Given the description of an element on the screen output the (x, y) to click on. 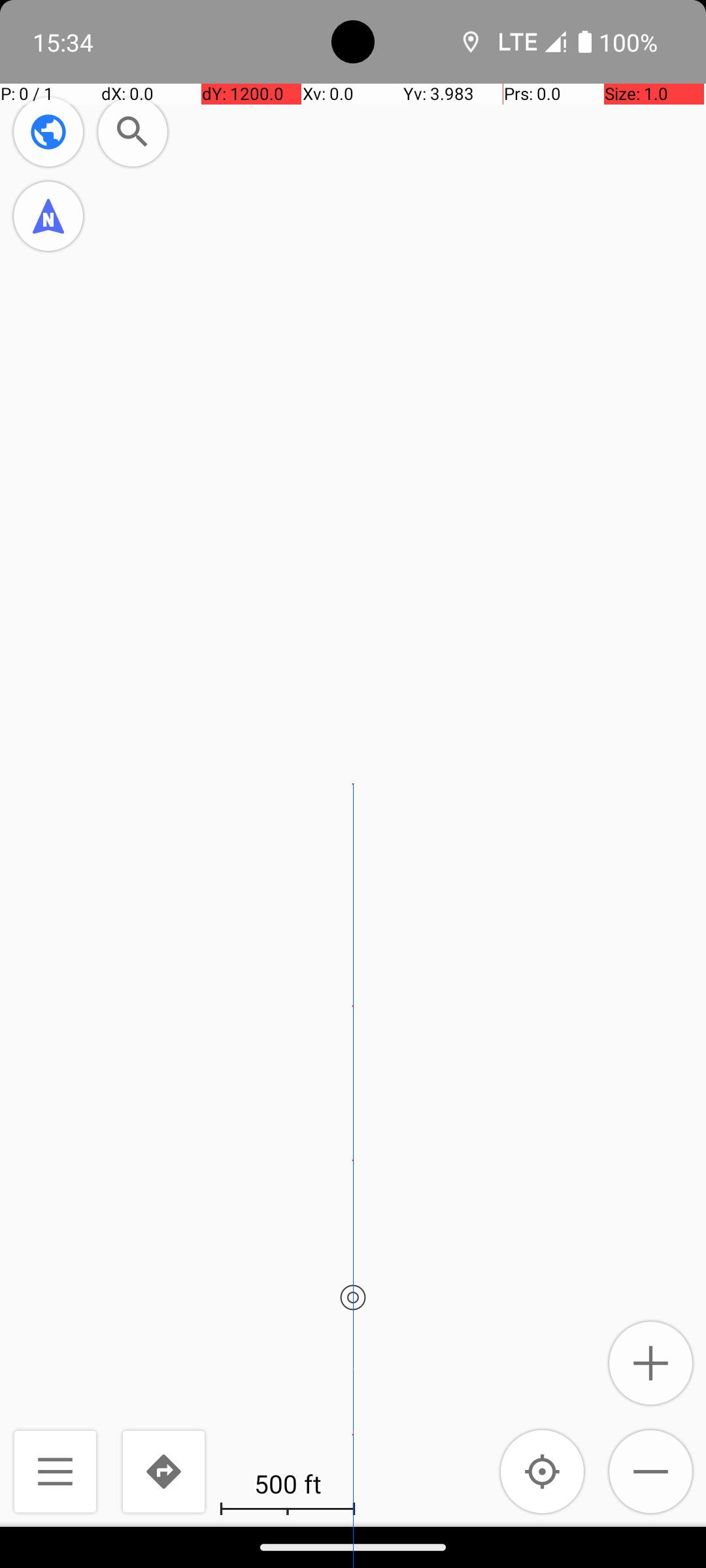
Movement direction Element type: android.widget.ImageButton (48, 216)
500 ft Element type: android.widget.TextView (287, 1483)
